Given the description of an element on the screen output the (x, y) to click on. 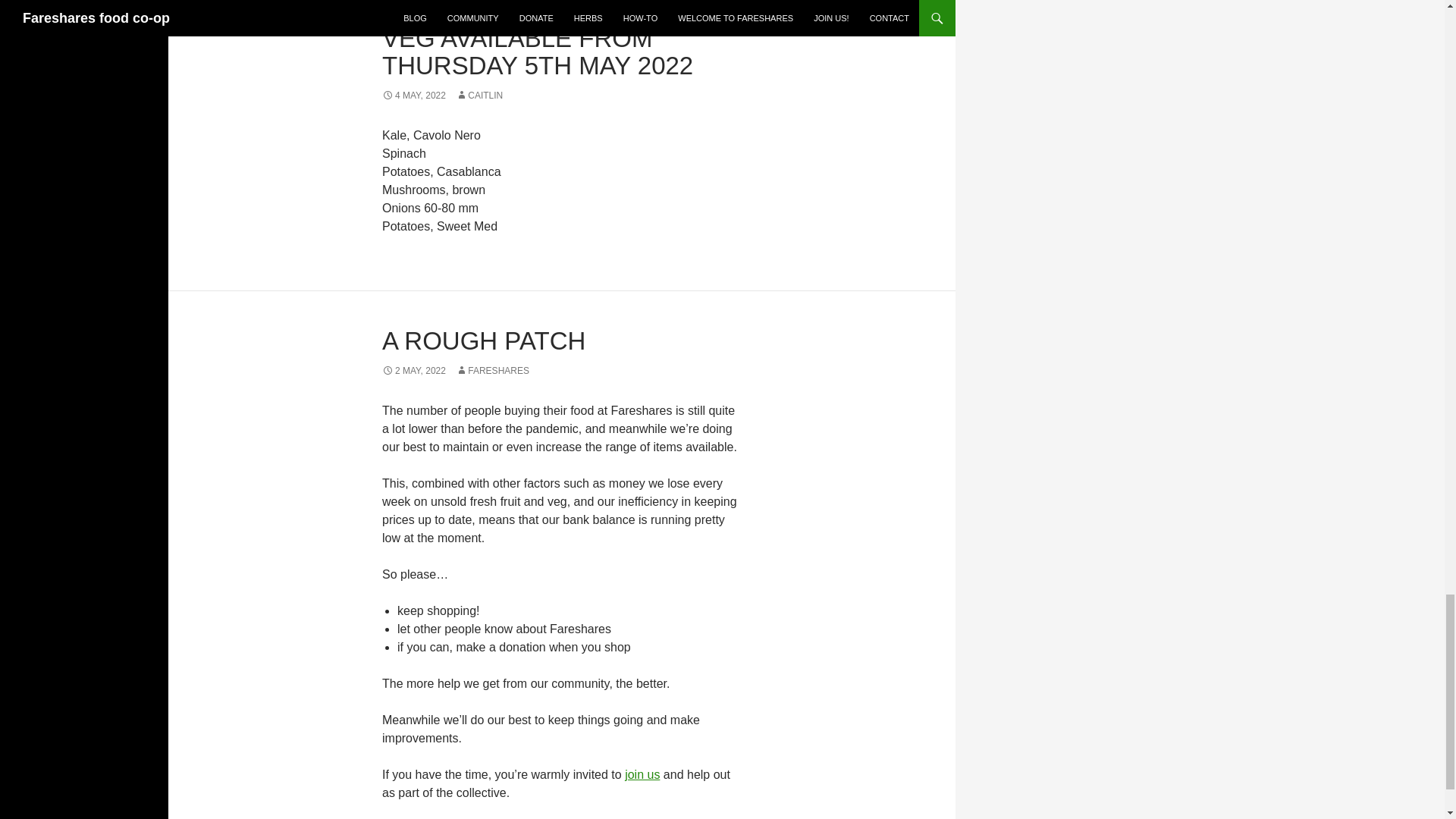
VEG AVAILABLE FROM THURSDAY 5TH MAY 2022 (537, 51)
FARESHARES (492, 370)
2 MAY, 2022 (413, 370)
CAITLIN (478, 95)
join us (641, 774)
4 MAY, 2022 (413, 95)
A ROUGH PATCH (483, 340)
